Given the description of an element on the screen output the (x, y) to click on. 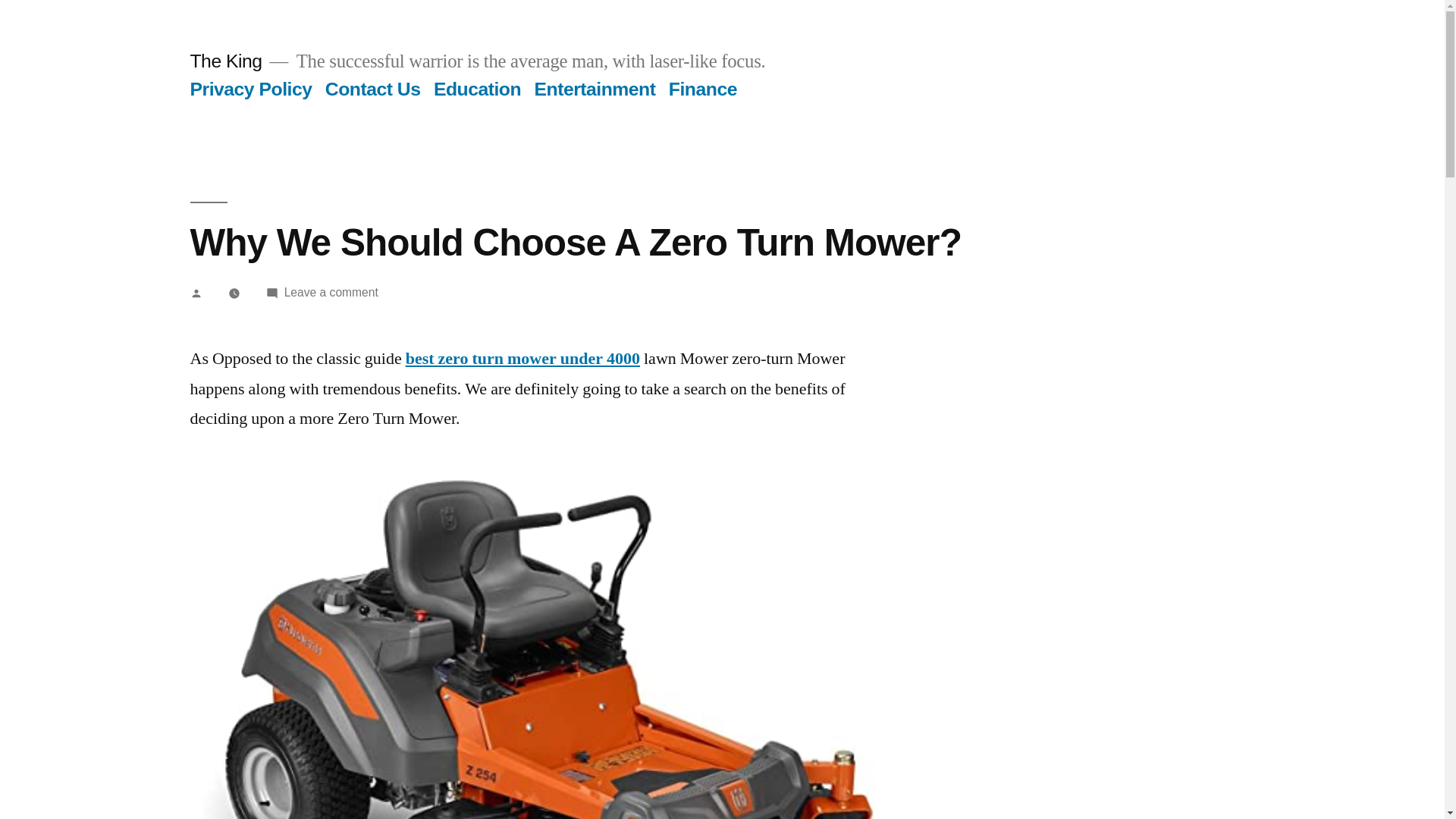
Entertainment (594, 88)
Contact Us (330, 291)
Privacy Policy (372, 88)
Education (250, 88)
best zero turn mower under 4000 (477, 88)
The King (523, 358)
Finance (225, 60)
